Given the description of an element on the screen output the (x, y) to click on. 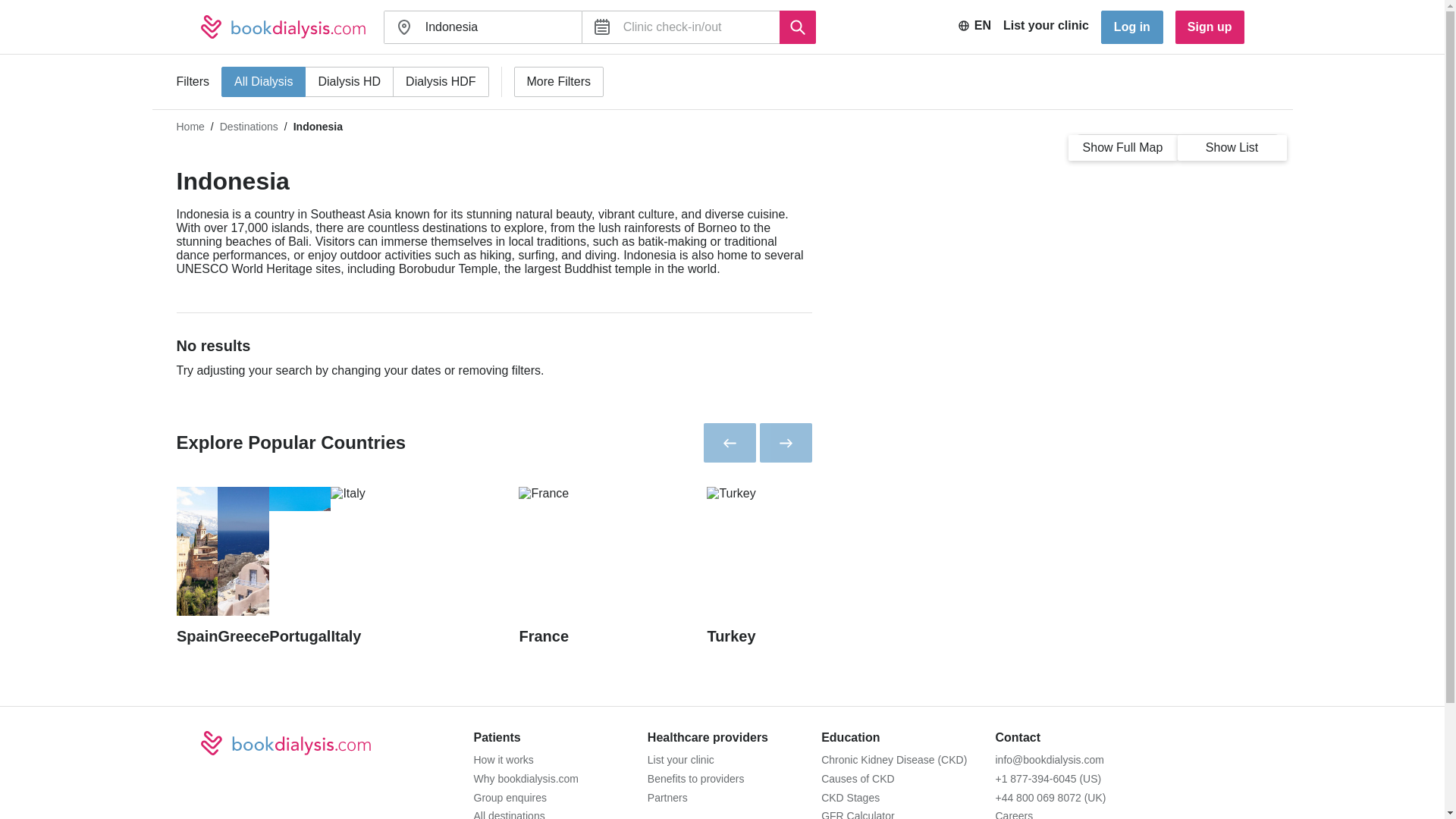
Show List (1230, 147)
Italy (424, 565)
Destinations (248, 126)
Dialysis HD (349, 81)
Show Full Map (1121, 147)
France (612, 565)
Indonesia (497, 26)
Turkey (800, 565)
Dialysis HDF (440, 81)
Log in (1131, 27)
All Dialysis (263, 81)
Home (189, 126)
More Filters (558, 81)
Sign up (1209, 27)
List your clinic (1046, 27)
